Given the description of an element on the screen output the (x, y) to click on. 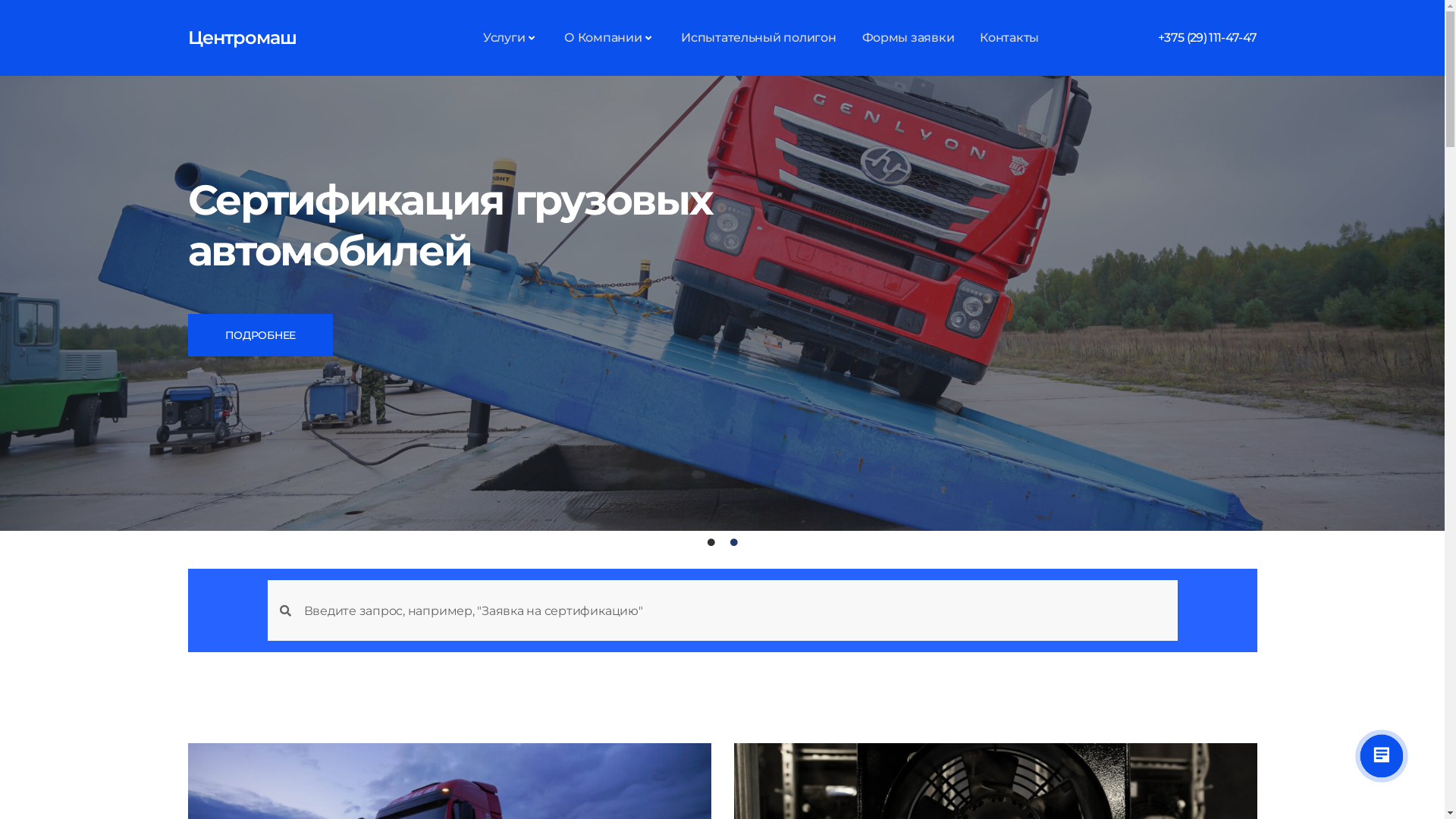
Search Element type: hover (734, 610)
+375 (29) 111-47-47 Element type: text (1206, 37)
